Given the description of an element on the screen output the (x, y) to click on. 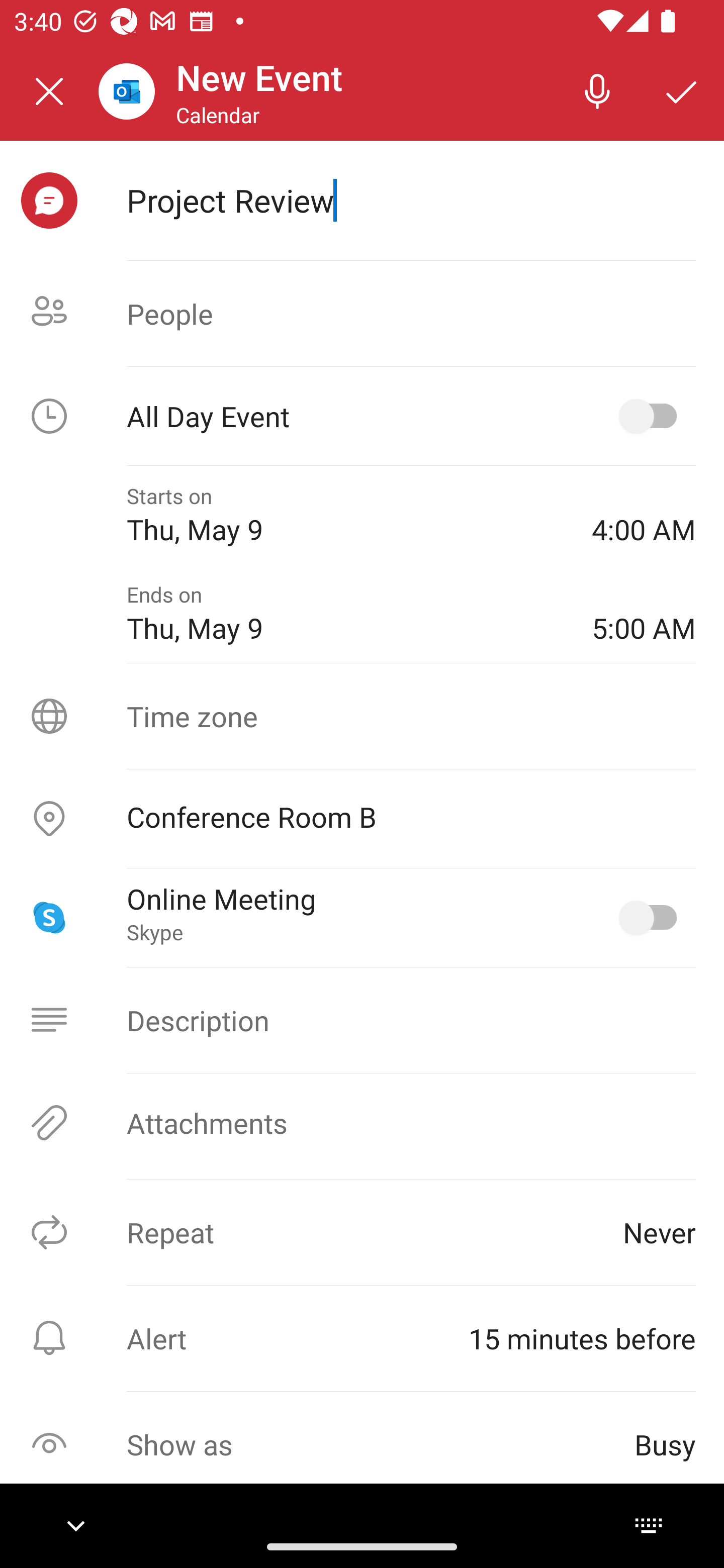
Close (49, 91)
Save (681, 90)
Project Review (410, 200)
review selected, event icon picker (48, 200)
People (362, 313)
All Day Event (362, 415)
Starts on Thu, May 9 (344, 514)
4:00 AM (643, 514)
Ends on Thu, May 9 (344, 613)
5:00 AM (643, 613)
Time zone (362, 715)
Location, Conference Room B Conference Room B (362, 818)
Online Meeting, Skype selected (651, 917)
Description (362, 1019)
Attachments (362, 1122)
Repeat Never (362, 1232)
Alert ⁨15 minutes before (362, 1337)
Show as Busy (362, 1444)
